Given the description of an element on the screen output the (x, y) to click on. 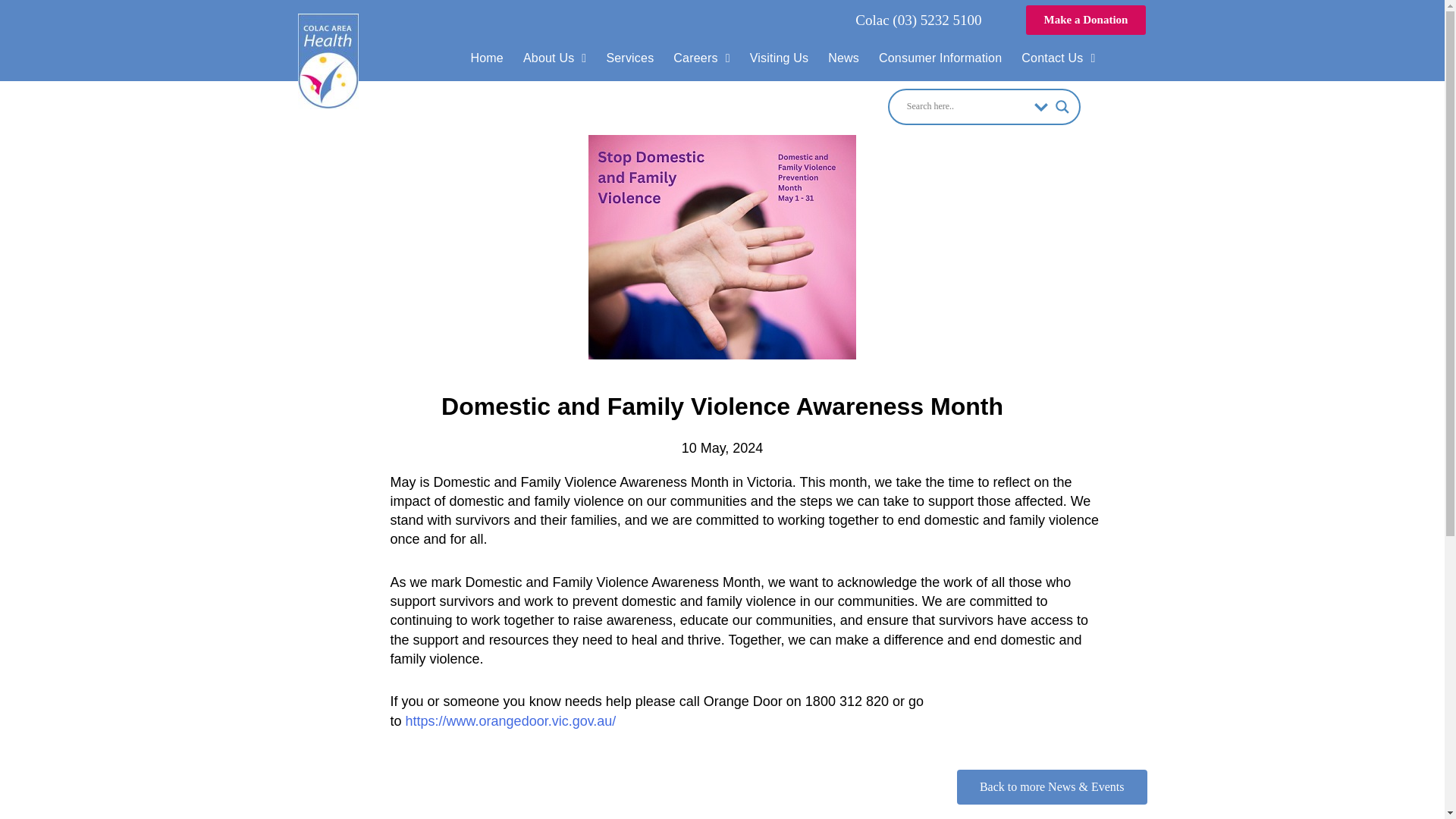
News (843, 58)
Contact Us (1058, 58)
Services (629, 58)
Careers (701, 58)
Make a Donation (1086, 19)
Consumer Information (940, 58)
Visiting Us (778, 58)
About Us (554, 58)
Home (486, 58)
